Given the description of an element on the screen output the (x, y) to click on. 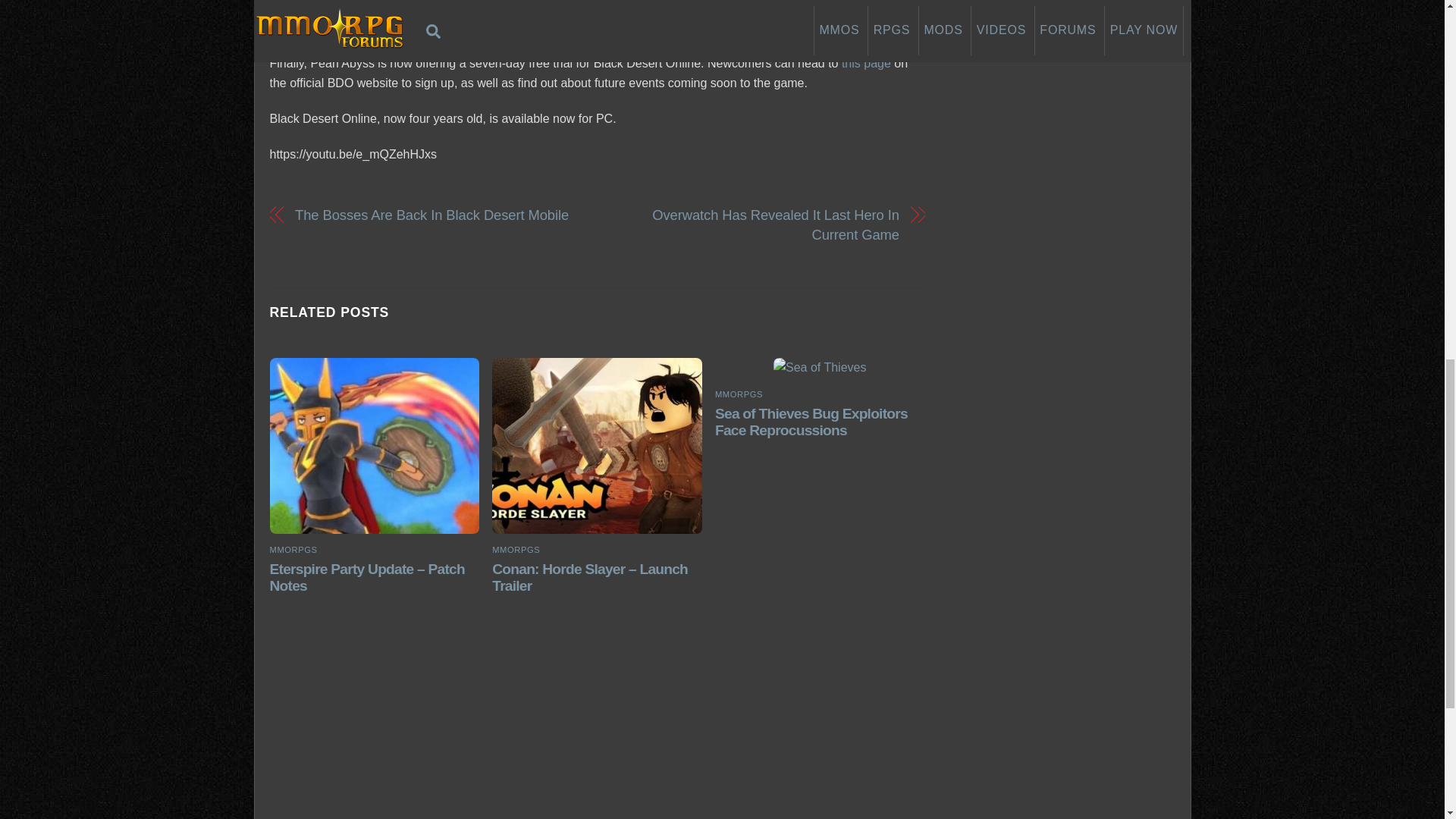
The Bosses Are Back In Black Desert Mobile (435, 214)
Overwatch Has Revealed It Last Hero In Current Game (756, 224)
Sea of Thieves Bug Exploitors Face Reprocussions (810, 421)
eterspire (374, 445)
MMORPGS (293, 549)
a sea of thieves (819, 367)
MMORPGS (738, 393)
MMORPGS (516, 549)
canon horde slayr (596, 445)
this page (866, 62)
